Given the description of an element on the screen output the (x, y) to click on. 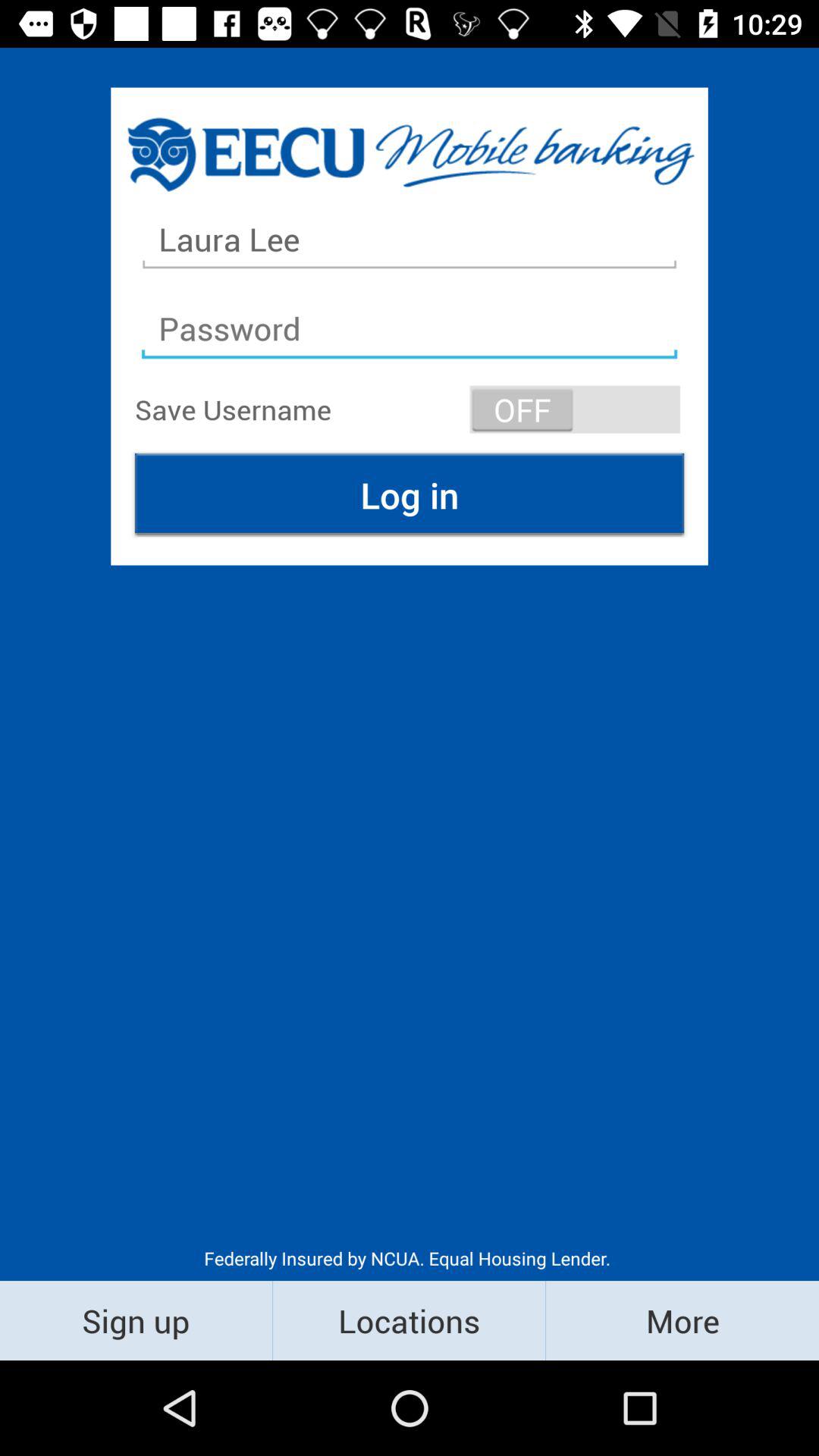
jump until laura lee item (409, 239)
